Given the description of an element on the screen output the (x, y) to click on. 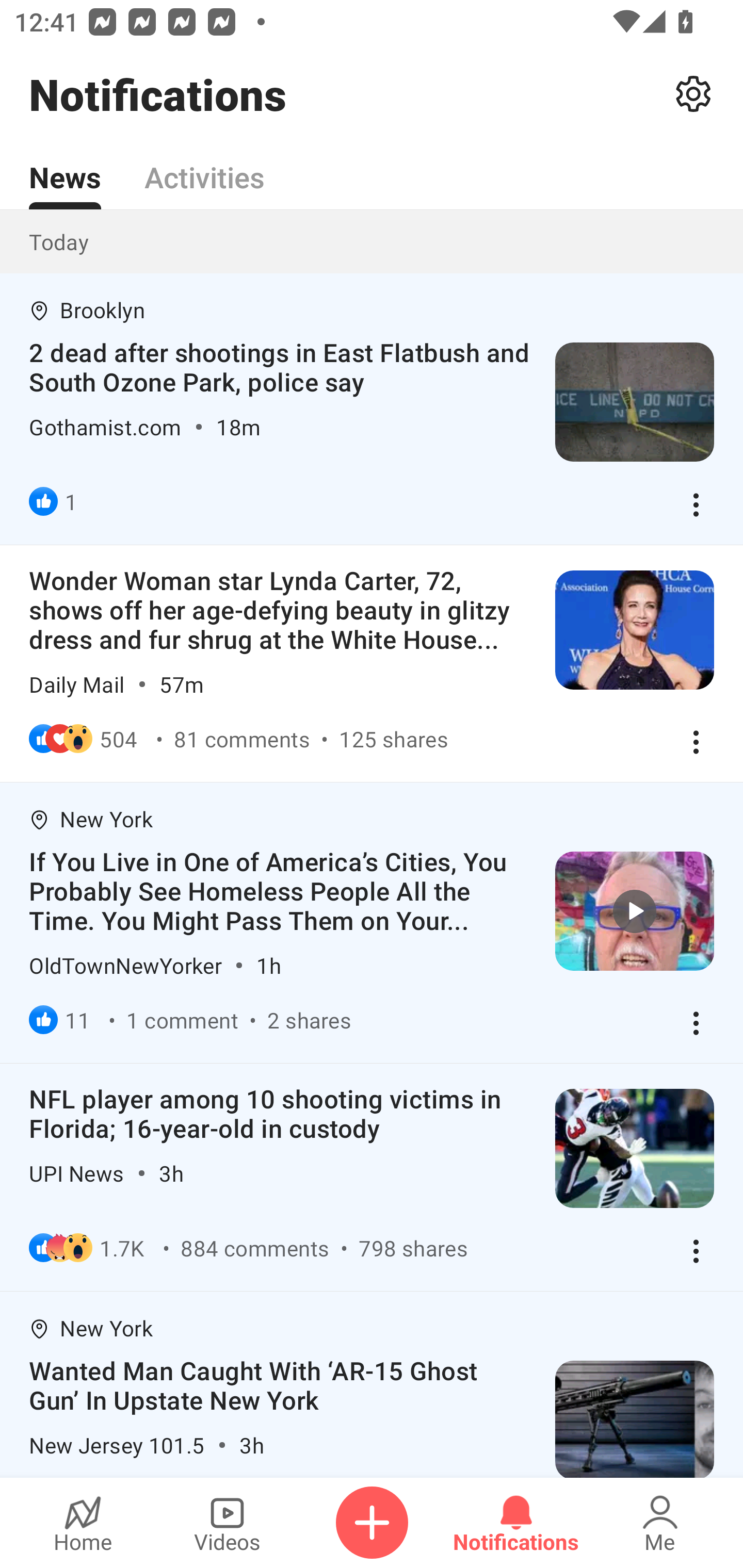
Activities (204, 166)
Home (83, 1522)
Videos (227, 1522)
Me (659, 1522)
